Given the description of an element on the screen output the (x, y) to click on. 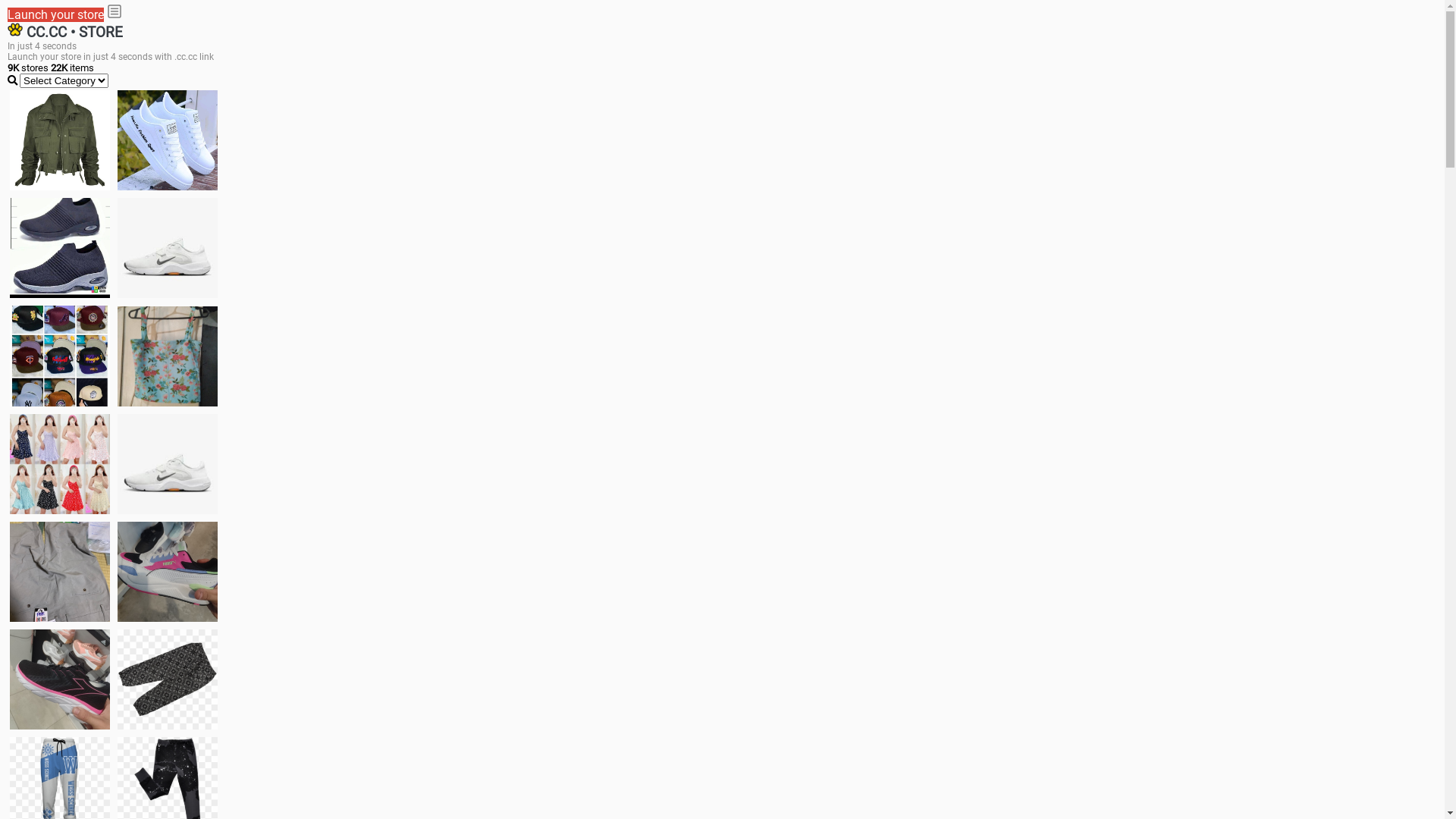
Short pant Element type: hover (167, 679)
Shoes for boys Element type: hover (167, 247)
Zapatillas pumas Element type: hover (167, 571)
Things we need Element type: hover (59, 355)
white shoes Element type: hover (167, 140)
Ukay cloth Element type: hover (167, 356)
jacket Element type: hover (59, 140)
Shoes Element type: hover (167, 464)
Zapatillas Element type: hover (59, 679)
shoes for boys Element type: hover (59, 247)
Dress/square nect top Element type: hover (59, 464)
Launch your store Element type: text (55, 14)
